Given the description of an element on the screen output the (x, y) to click on. 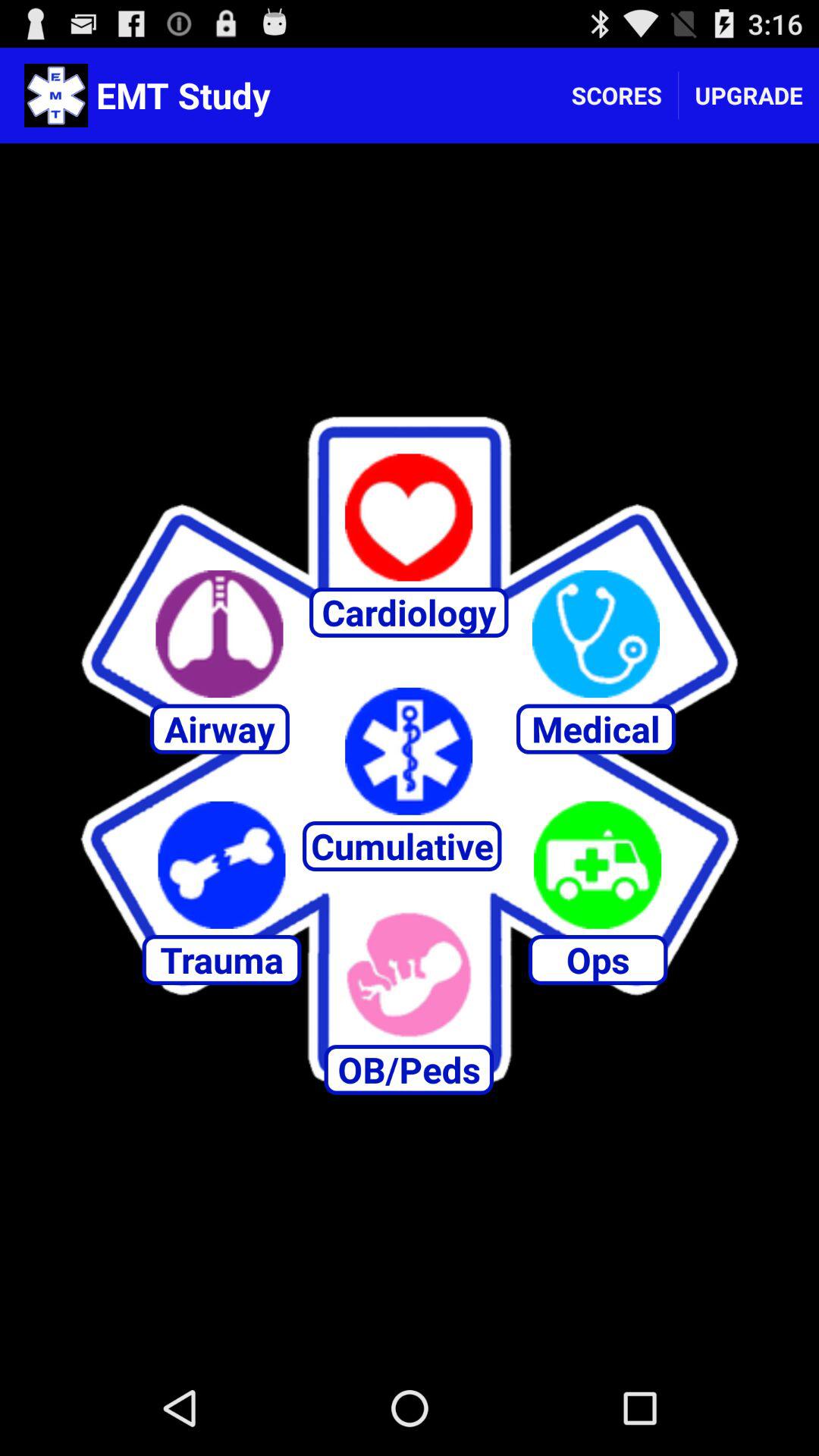
click to cardiology option (408, 517)
